Given the description of an element on the screen output the (x, y) to click on. 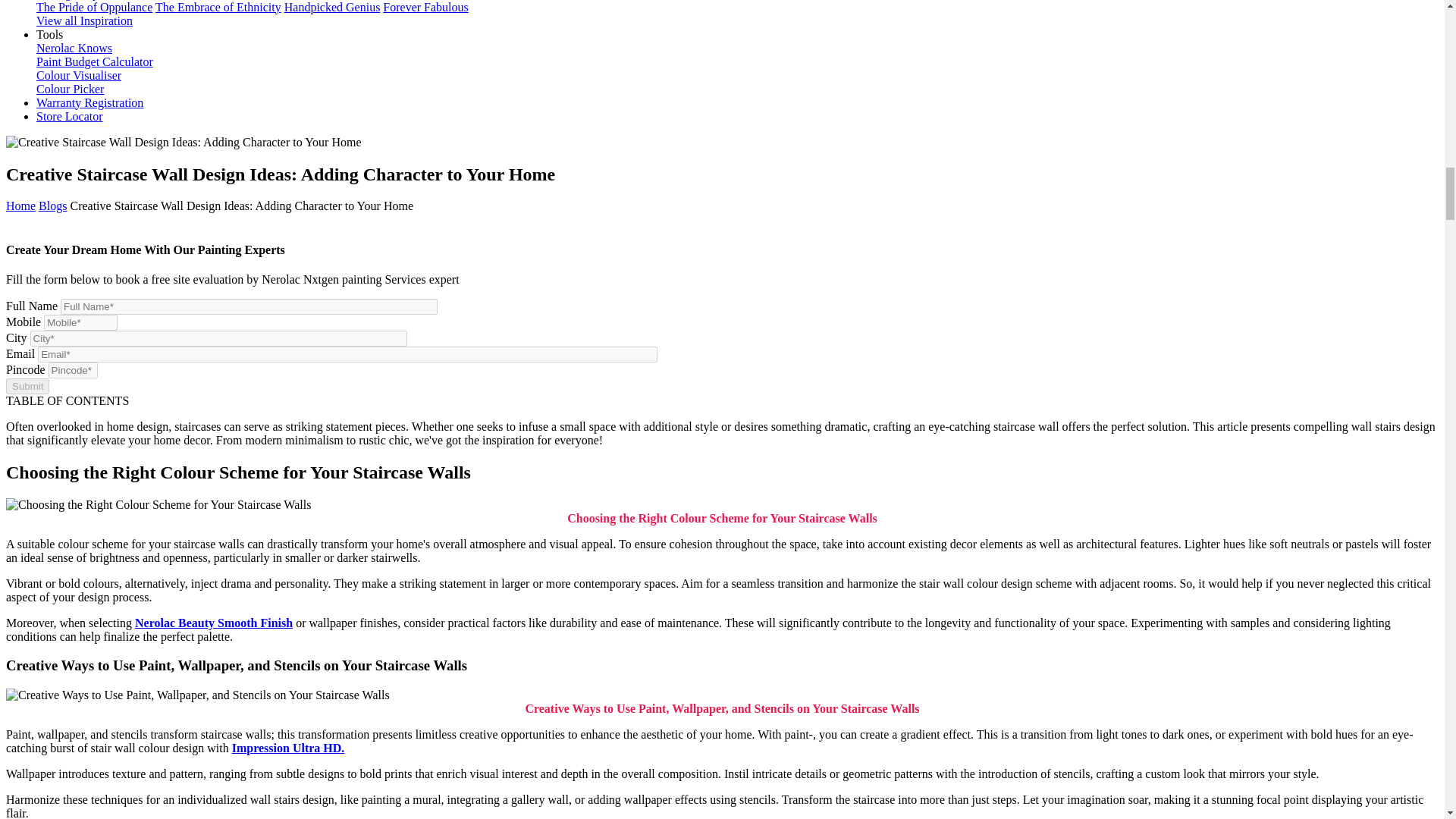
Choosing the Right Colour Scheme for Your Staircase Walls (158, 504)
Submit (27, 385)
